Given the description of an element on the screen output the (x, y) to click on. 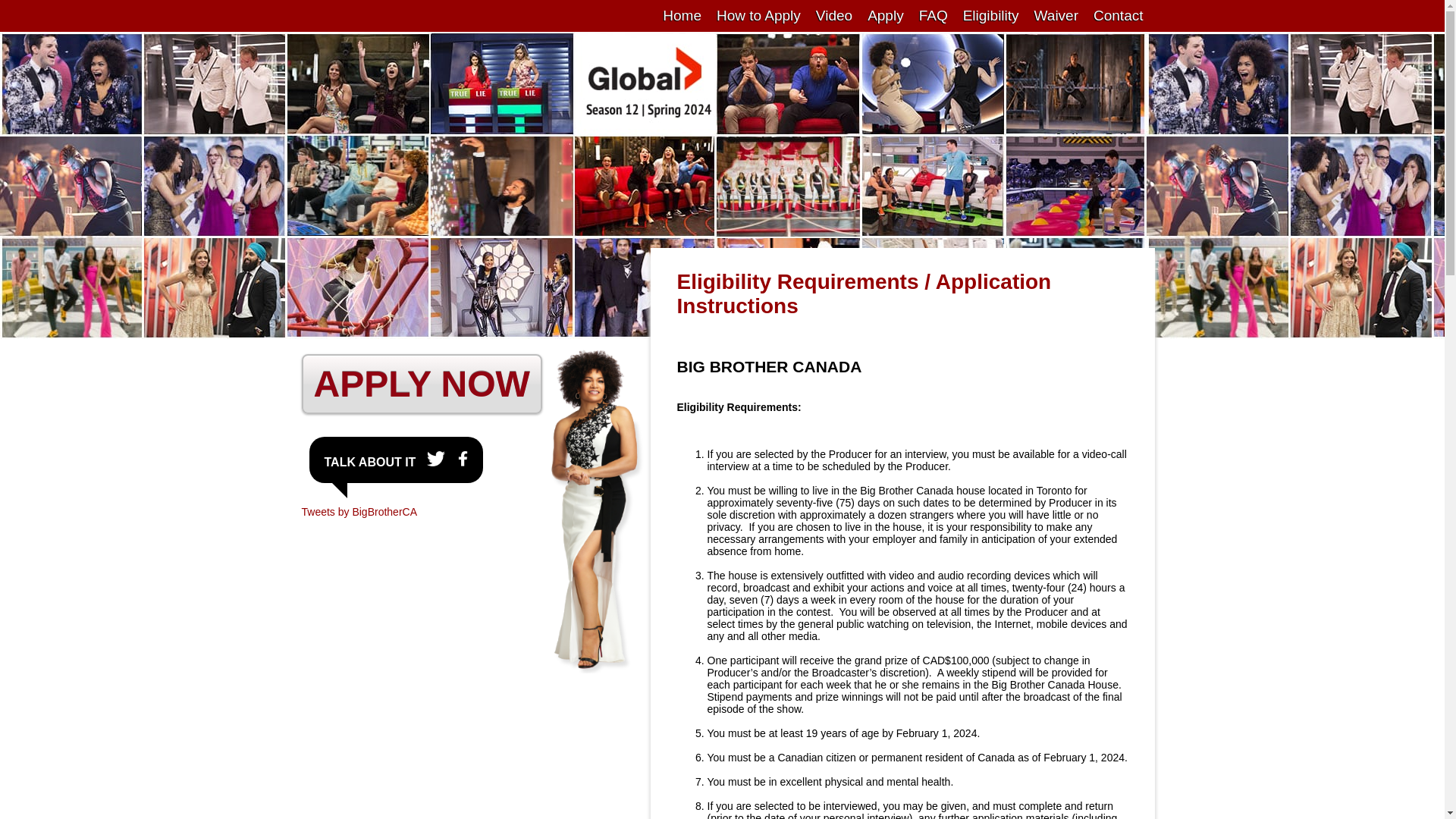
APPLY NOW Element type: text (421, 392)
Home Element type: text (681, 15)
Eligibility Element type: text (991, 15)
Apply Element type: text (885, 15)
FAQ Element type: text (933, 15)
Video Element type: text (833, 15)
facebook Element type: hover (462, 459)
How to Apply Element type: text (758, 15)
twitter Element type: hover (438, 459)
Contact Element type: text (1117, 15)
Waiver Element type: text (1056, 15)
Tweets by BigBrotherCA Element type: text (359, 511)
